Given the description of an element on the screen output the (x, y) to click on. 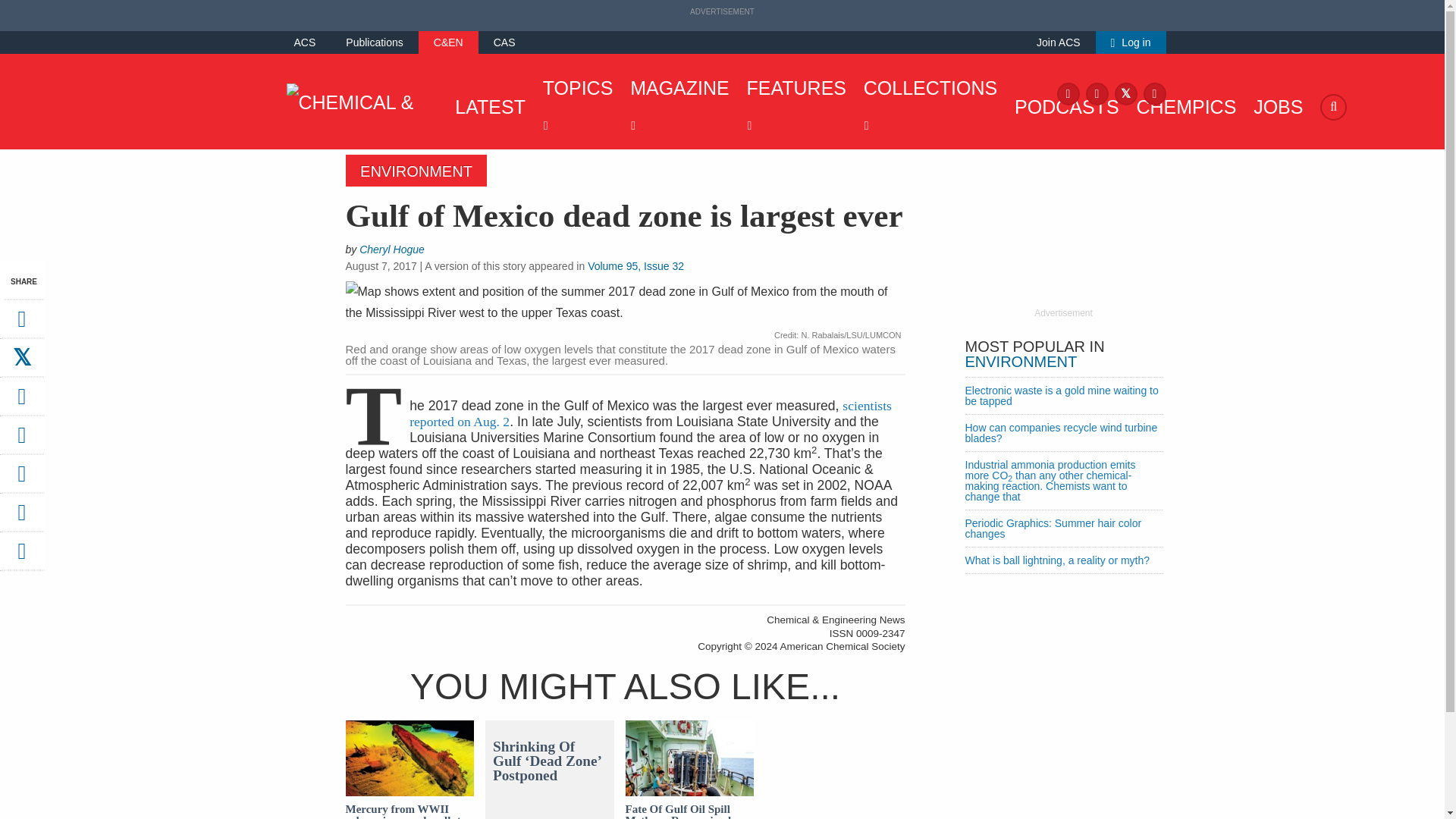
Log in (1130, 42)
Facebook (1068, 92)
ACS (304, 42)
Instagram (1097, 92)
X (1126, 92)
Publications (374, 42)
Join ACS (1058, 42)
LinkedIn (1154, 92)
CAS (504, 42)
LATEST (485, 106)
